Given the description of an element on the screen output the (x, y) to click on. 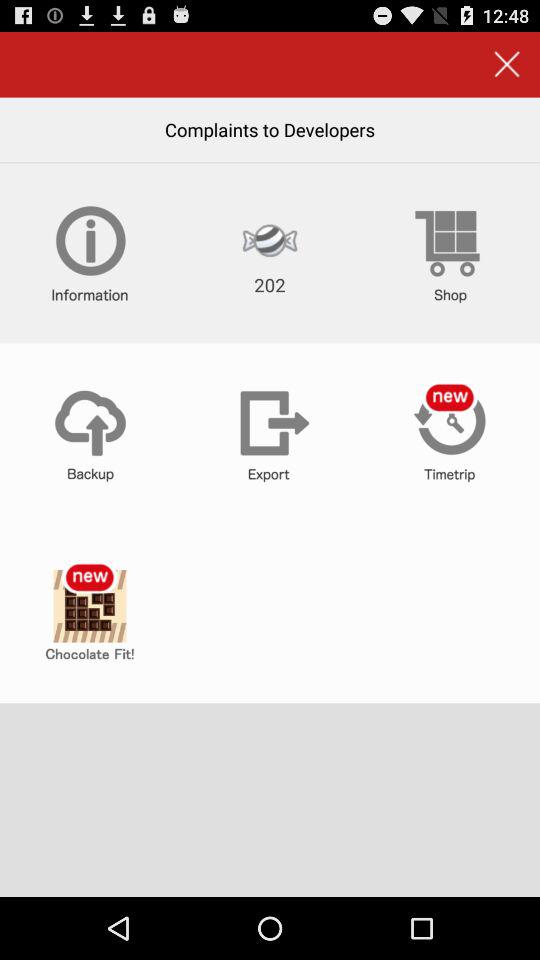
select chocolate fit program (90, 613)
